Given the description of an element on the screen output the (x, y) to click on. 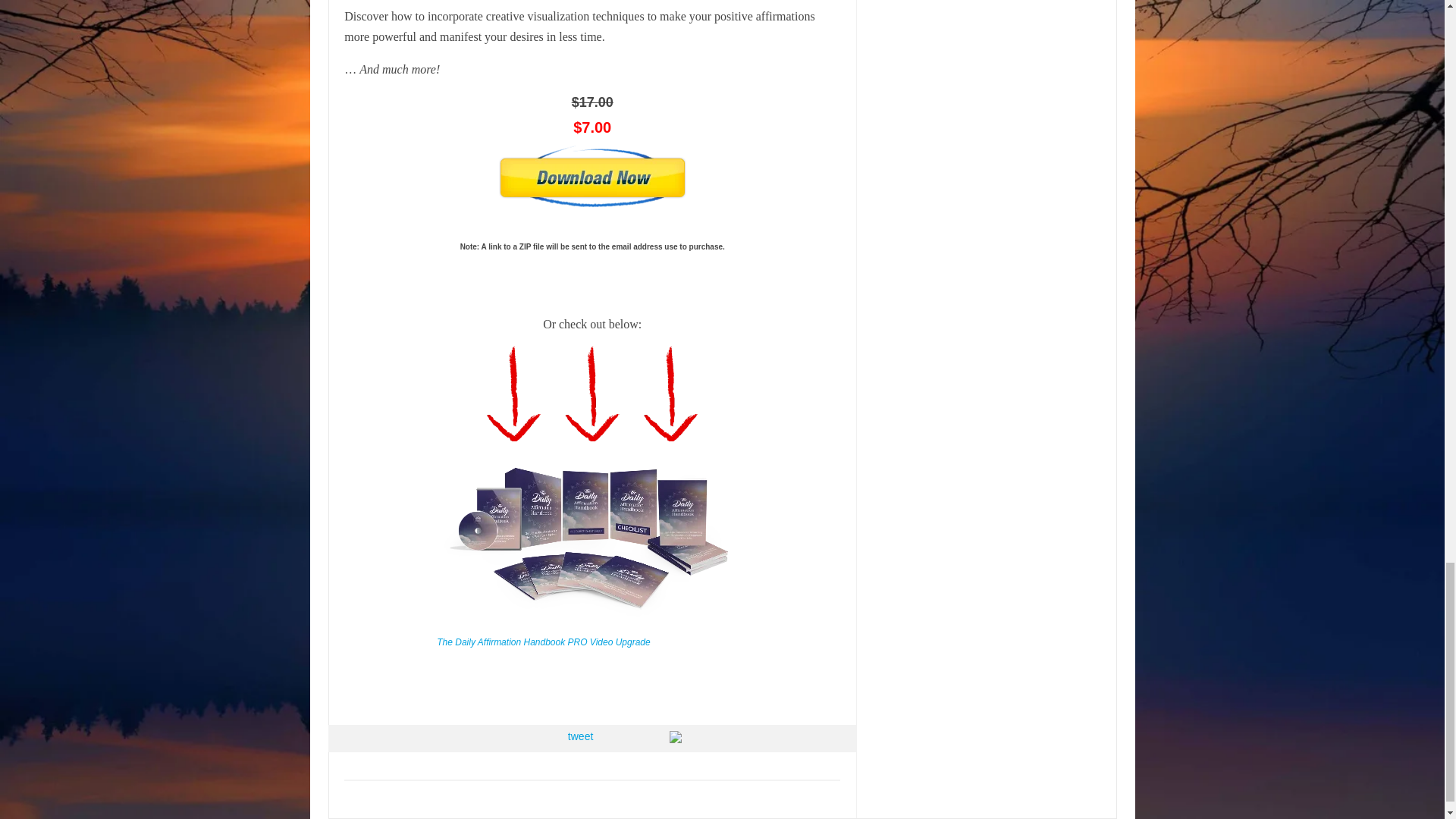
tweet (579, 736)
The Daily Affirmation Handbook PRO Video Upgrade (542, 642)
The Daily Affirmation Handbook PRO Video Upgrade (587, 623)
The Daily Affirmation Handbook PRO Video Upgrade (542, 642)
